Given the description of an element on the screen output the (x, y) to click on. 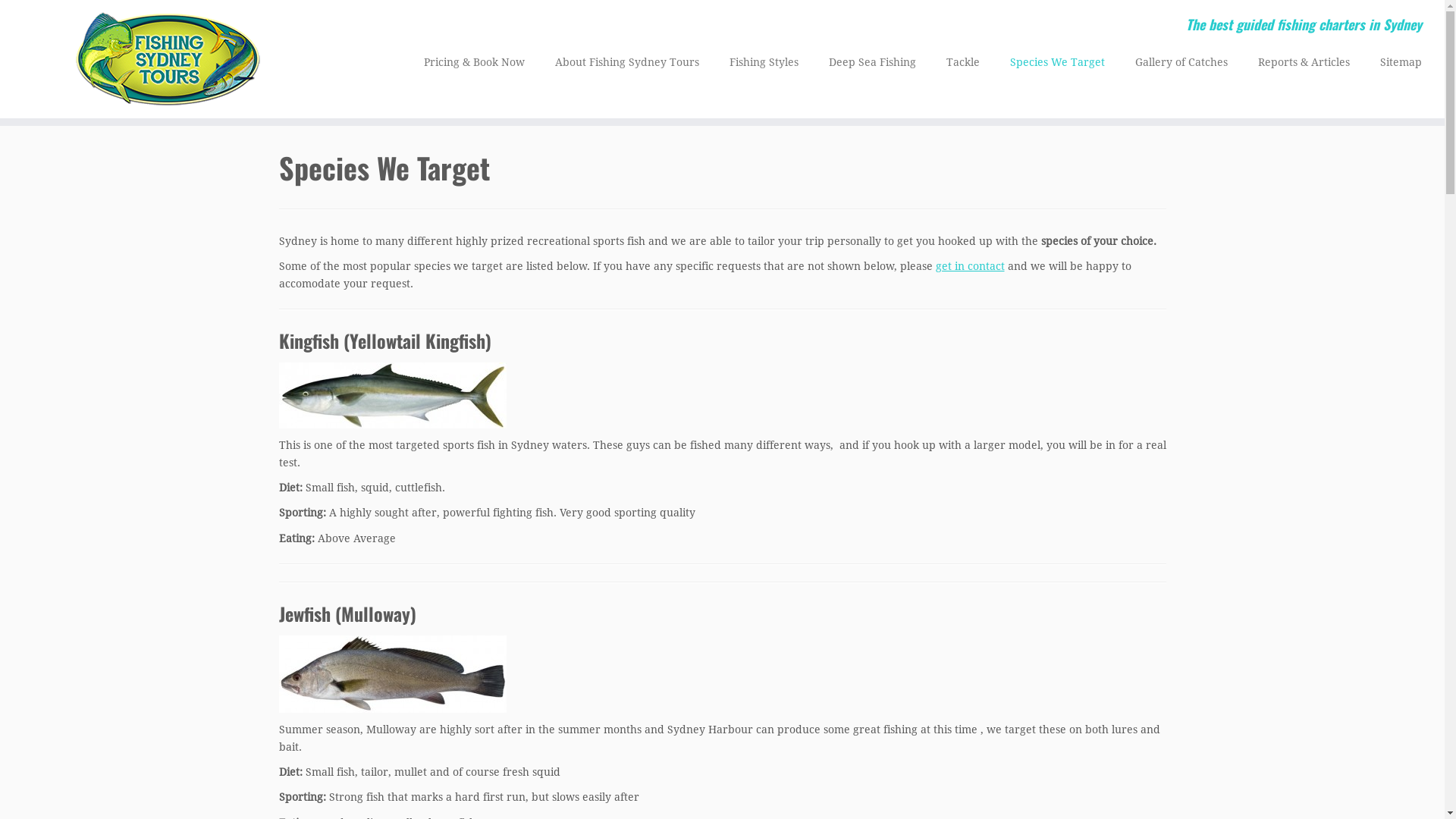
Reports & Articles Element type: text (1303, 62)
About Fishing Sydney Tours Element type: text (626, 62)
Fishing Styles Element type: text (763, 62)
Tackle Element type: text (962, 62)
Gallery of Catches Element type: text (1181, 62)
get in contact Element type: text (969, 266)
Sitemap Element type: text (1393, 62)
Species We Target Element type: text (1057, 62)
Pricing & Book Now Element type: text (473, 62)
Deep Sea Fishing Element type: text (872, 62)
